Given the description of an element on the screen output the (x, y) to click on. 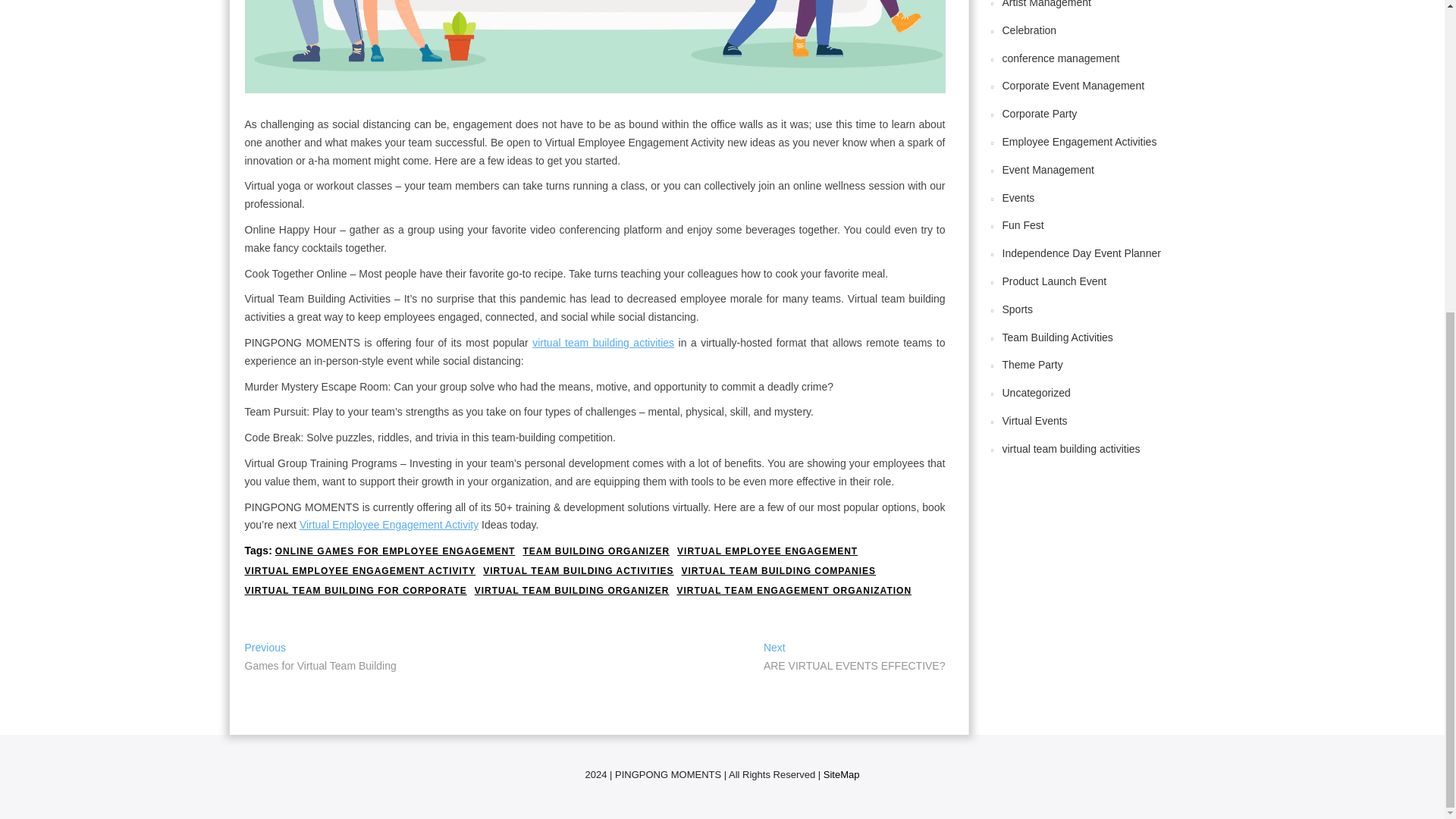
VIRTUAL TEAM BUILDING ACTIVITIES (577, 571)
VIRTUAL EMPLOYEE ENGAGEMENT (767, 551)
Celebration (1030, 30)
VIRTUAL TEAM BUILDING ORGANIZER (320, 658)
Employee Engagement Activities (571, 590)
Artist Management (1080, 141)
TEAM BUILDING ORGANIZER (1047, 4)
Corporate Event Management (595, 551)
